Given the description of an element on the screen output the (x, y) to click on. 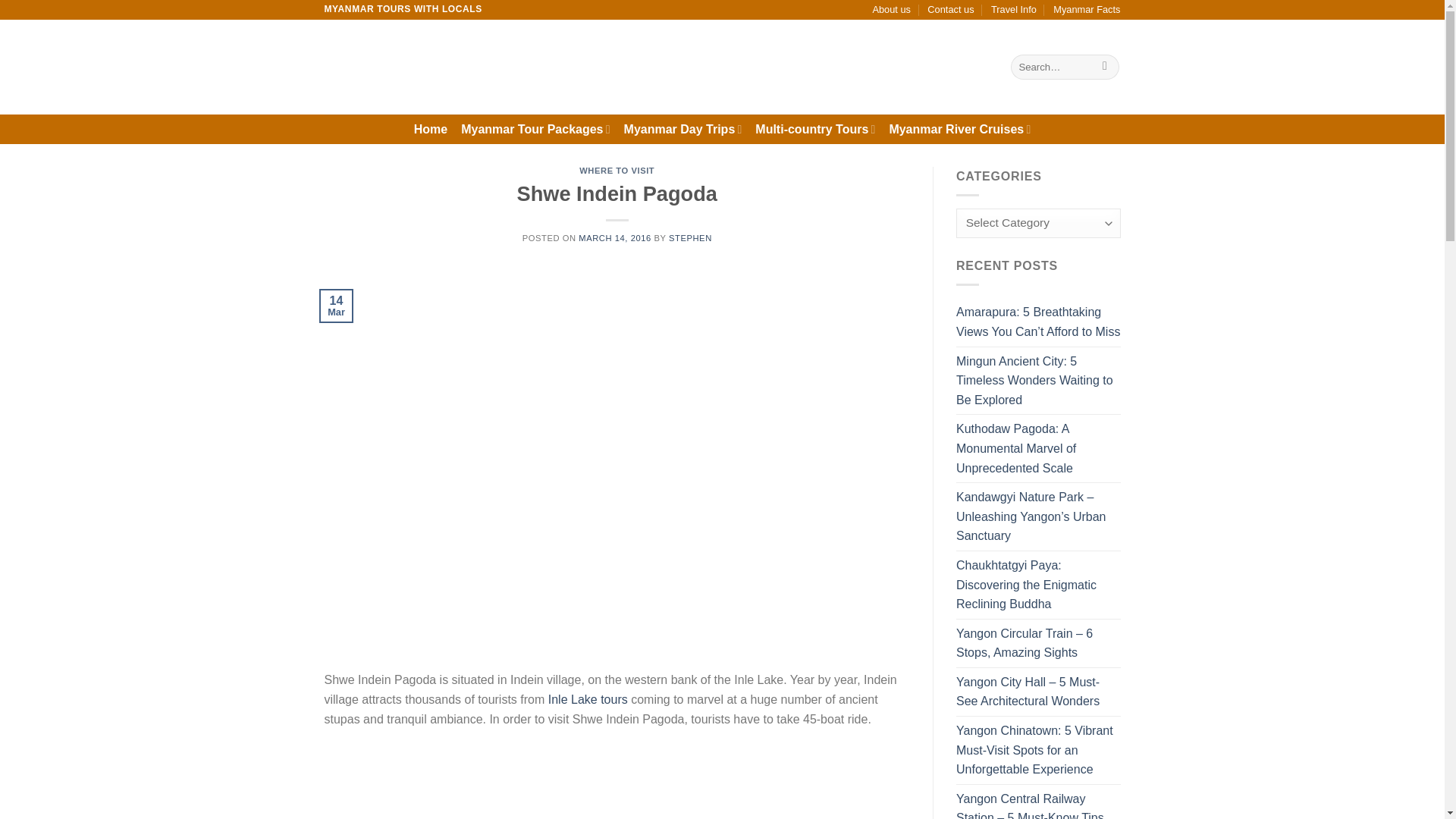
Home (429, 128)
Travel Info (1013, 9)
Search (1105, 67)
Myanmar Facts (1085, 9)
About us (891, 9)
Myanmar Tour Packages (535, 129)
Contact us (950, 9)
Multi-country Tours (815, 129)
Myanmar Day Trips (683, 129)
Myanmar River Cruises (959, 129)
